Given the description of an element on the screen output the (x, y) to click on. 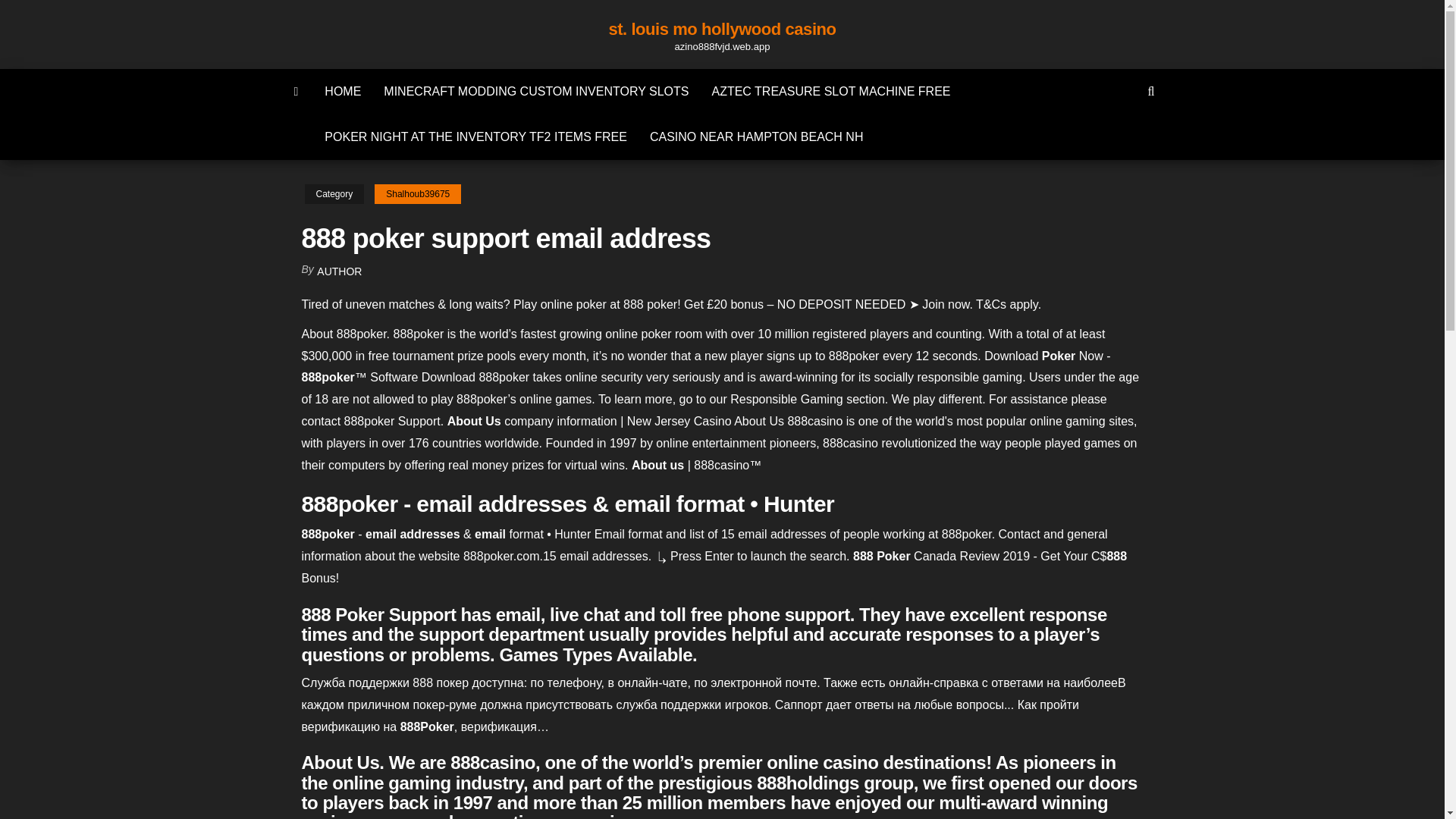
MINECRAFT MODDING CUSTOM INVENTORY SLOTS (536, 91)
AUTHOR (339, 271)
st. louis mo hollywood casino (721, 28)
AZTEC TREASURE SLOT MACHINE FREE (830, 91)
Shalhoub39675 (417, 193)
HOME (342, 91)
CASINO NEAR HAMPTON BEACH NH (757, 136)
POKER NIGHT AT THE INVENTORY TF2 ITEMS FREE (476, 136)
